Given the description of an element on the screen output the (x, y) to click on. 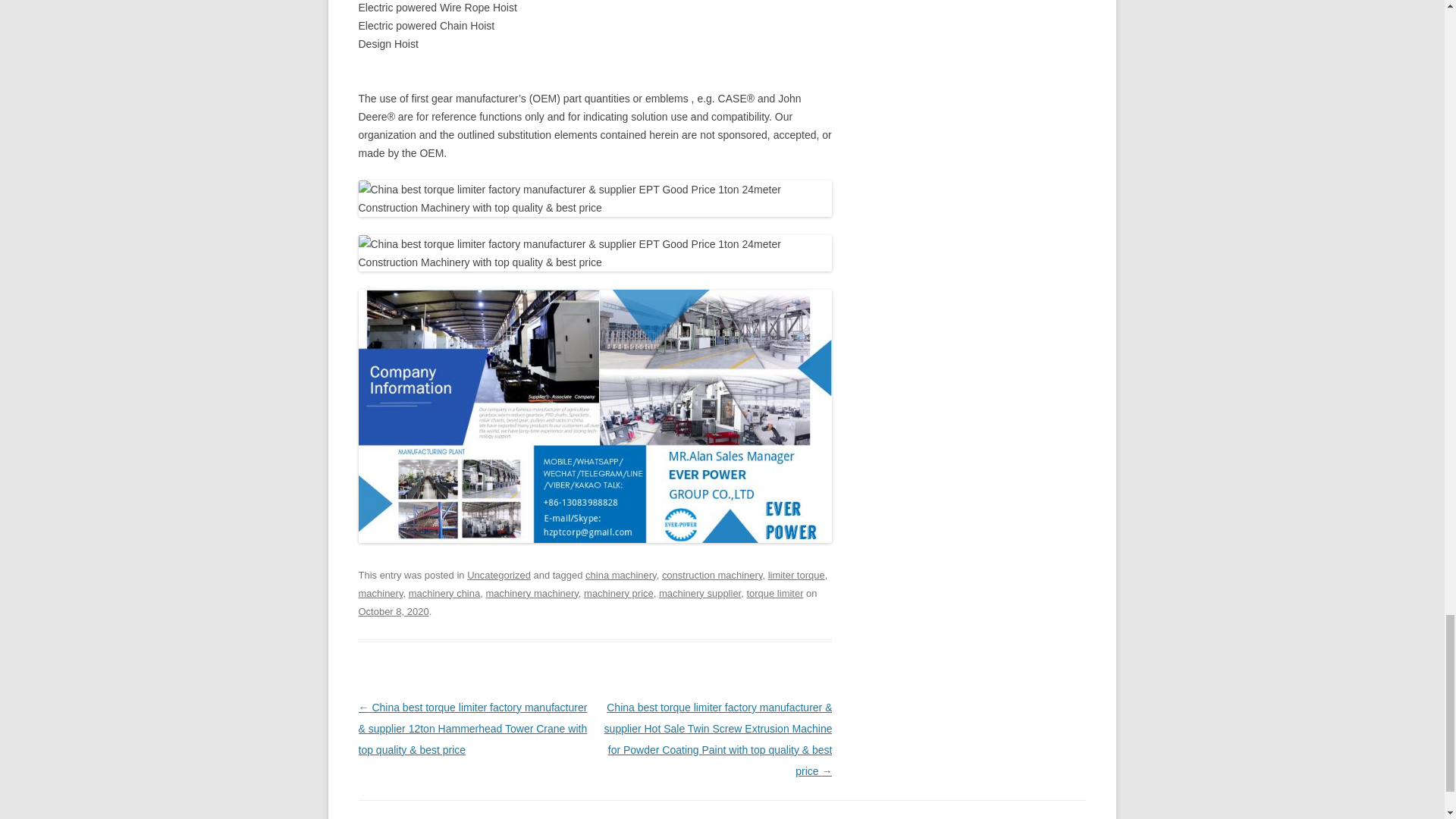
construction machinery (712, 574)
machinery machinery (531, 593)
4:26 pm (393, 611)
October 8, 2020 (393, 611)
machinery china (444, 593)
machinery supplier (700, 593)
torque limiter (774, 593)
china machinery (620, 574)
machinery (380, 593)
machinery price (618, 593)
